Given the description of an element on the screen output the (x, y) to click on. 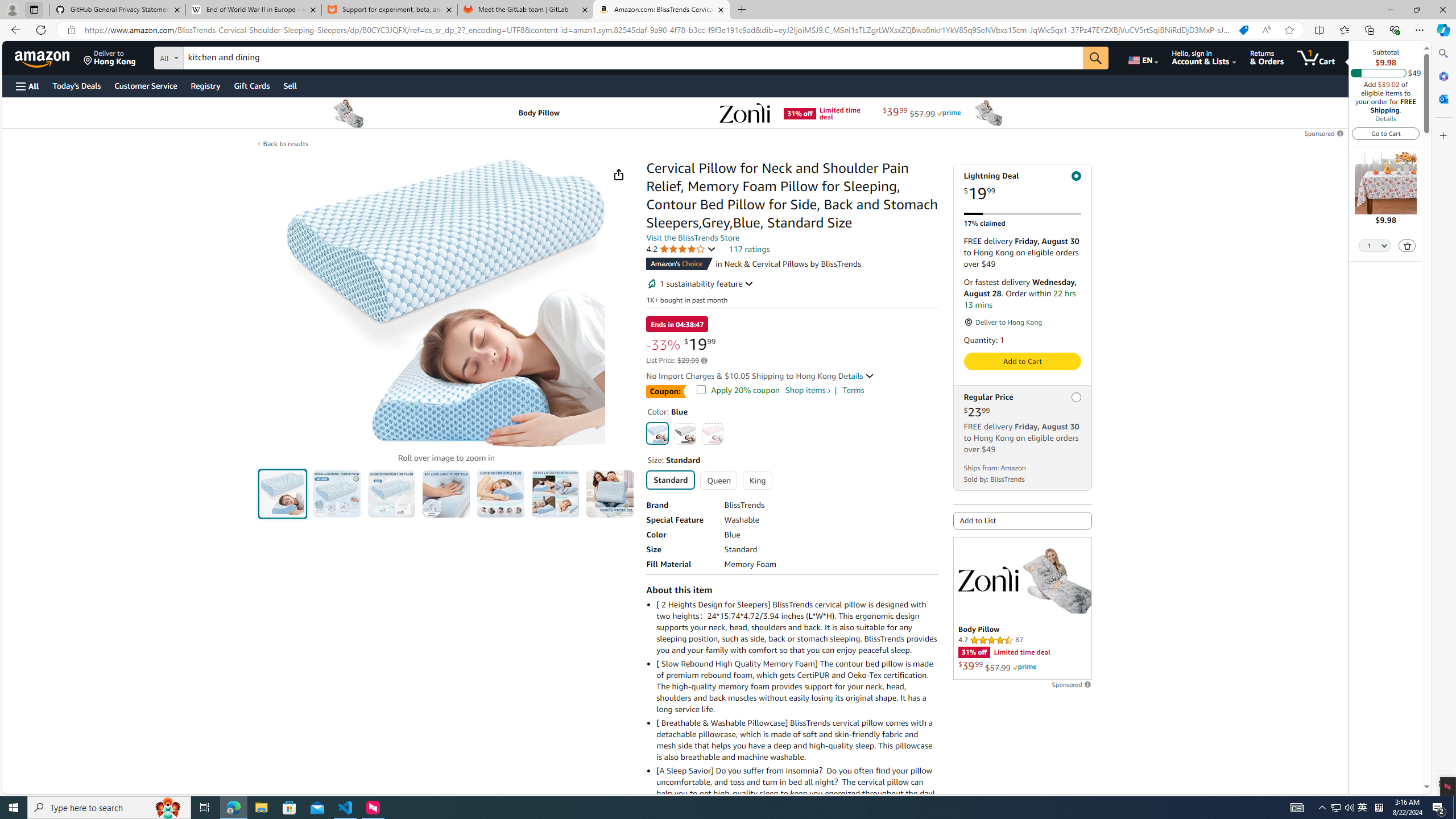
Standard (670, 479)
